Given the description of an element on the screen output the (x, y) to click on. 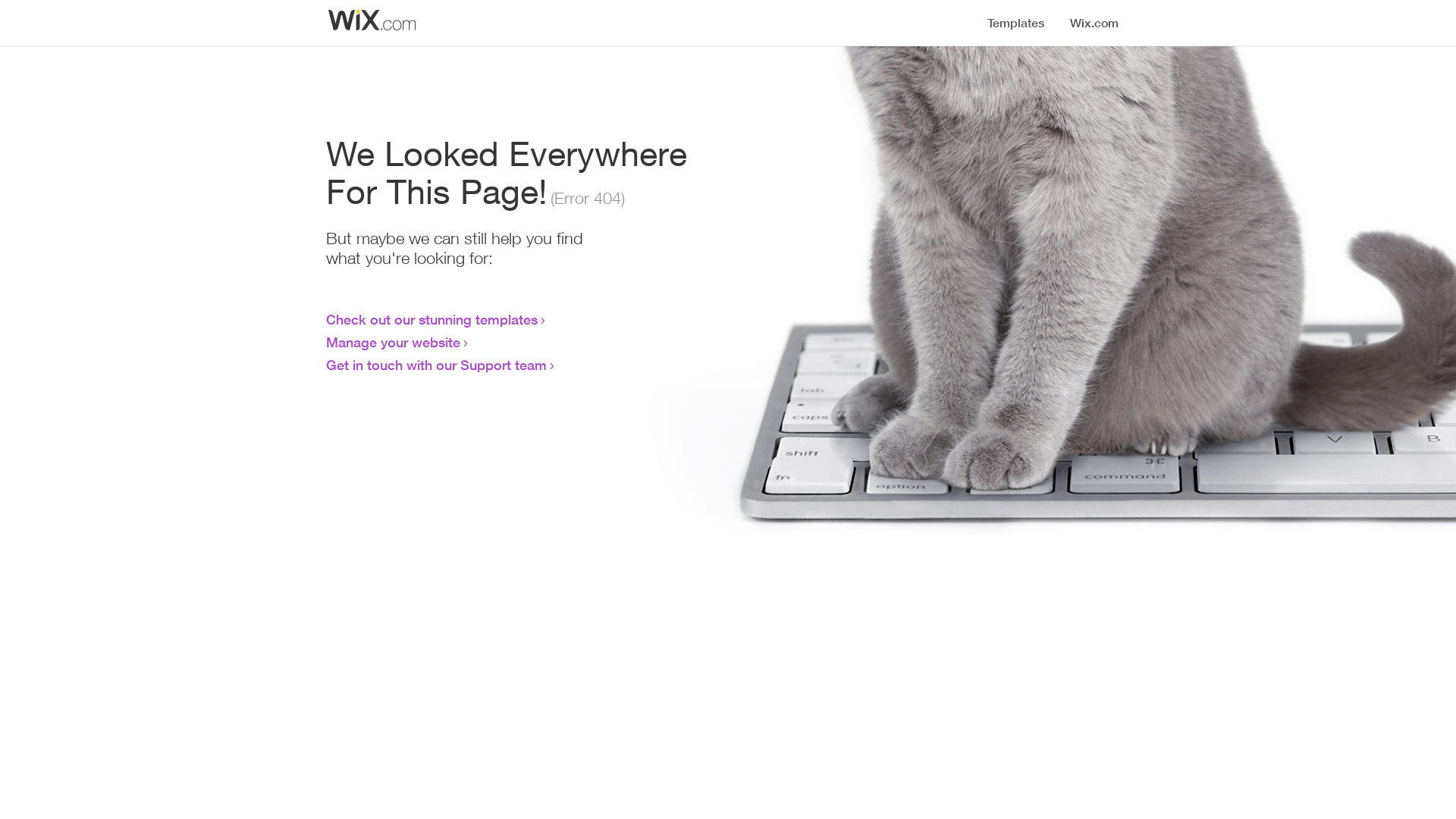
Manage your website Element type: text (393, 341)
Get in touch with our Support team Element type: text (436, 364)
Check out our stunning templates Element type: text (431, 318)
